Given the description of an element on the screen output the (x, y) to click on. 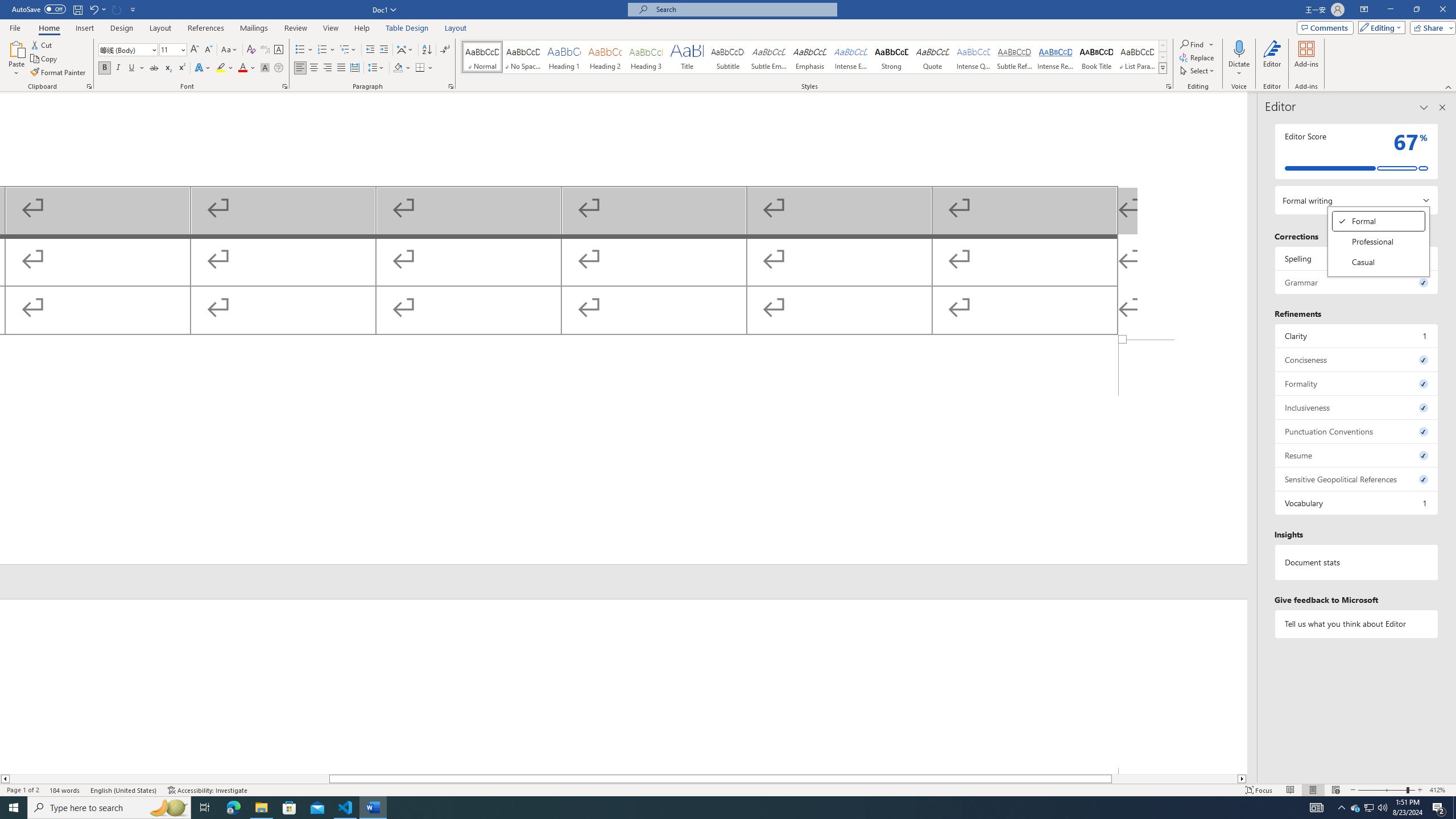
Column left (5, 778)
User Promoted Notification Area (1368, 807)
Notification Chevron (1341, 807)
Resume, 0 issues. Press space or enter to review items. (1356, 454)
